Given the description of an element on the screen output the (x, y) to click on. 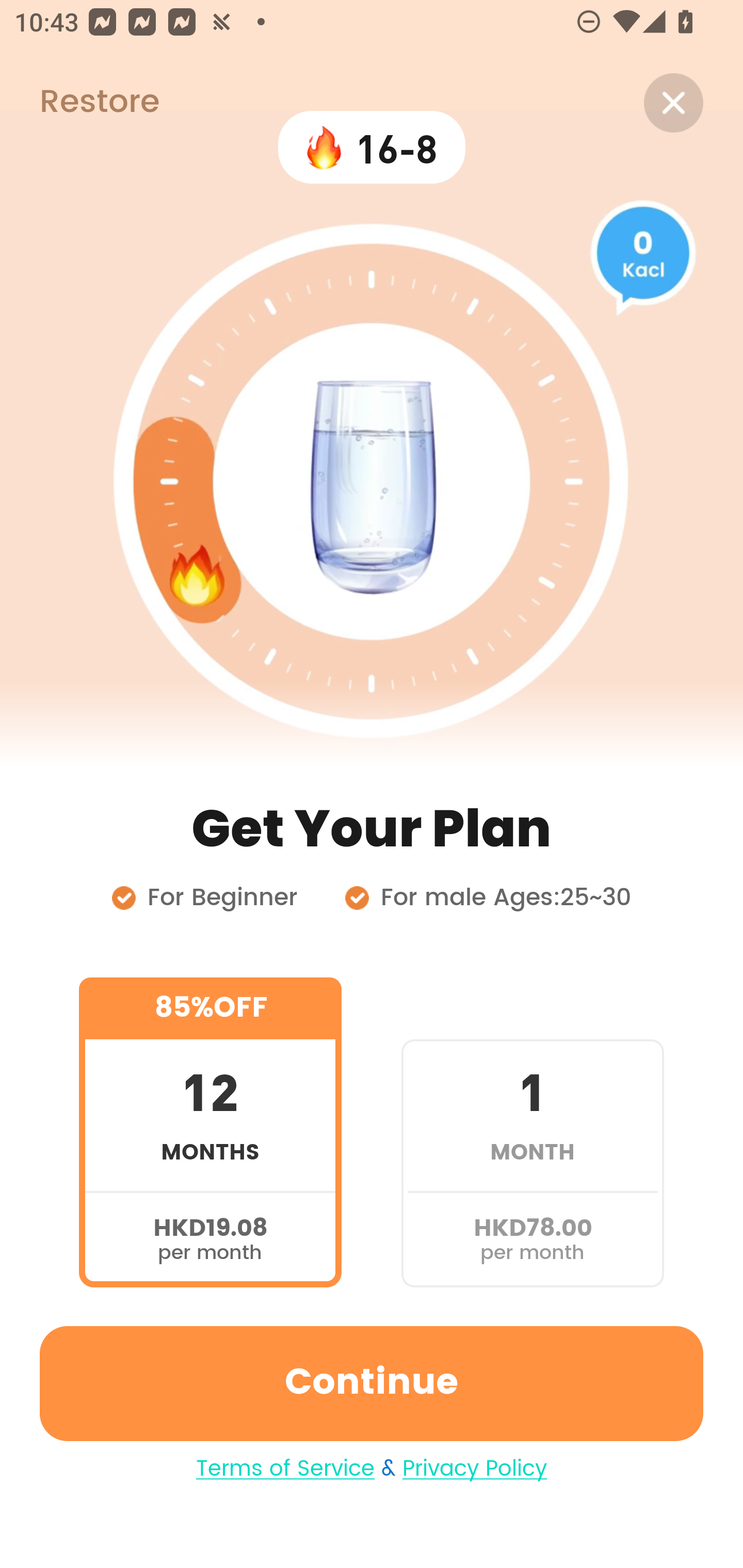
Restore (79, 102)
85%OFF 12 MONTHS per month HKD19.08 (209, 1131)
1 MONTH per month HKD78.00 (532, 1131)
Continue (371, 1383)
